Given the description of an element on the screen output the (x, y) to click on. 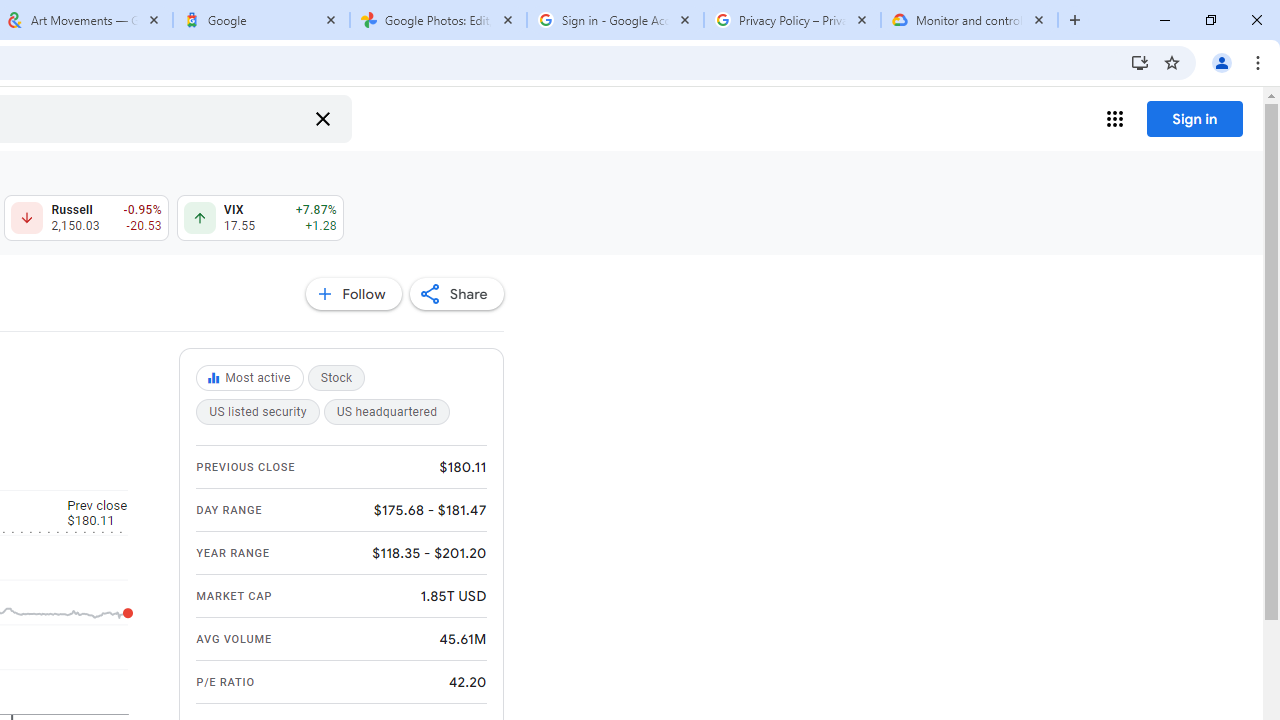
Install Google Finance (1139, 62)
Most active (251, 377)
Google (260, 20)
Russell 2,150.03 Down by 0.95% -20.53 (85, 218)
Follow (353, 293)
Share (456, 293)
Clear search (322, 118)
